Given the description of an element on the screen output the (x, y) to click on. 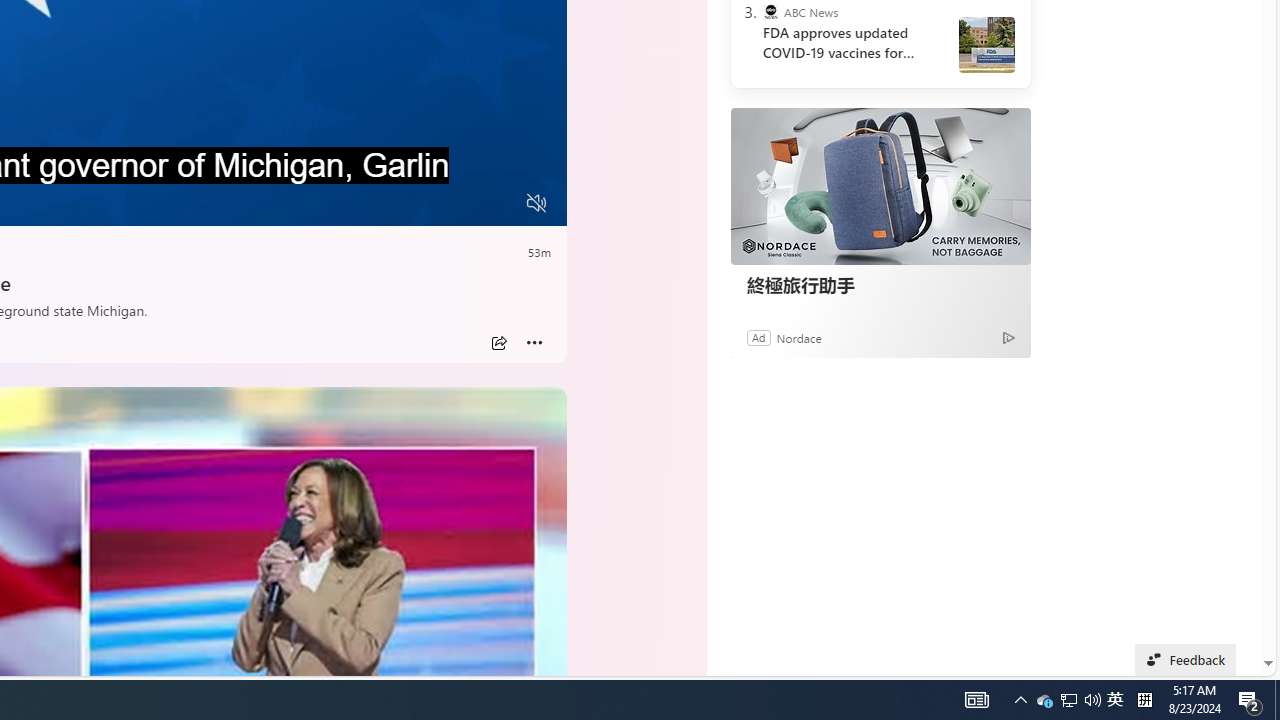
Share (498, 343)
ABC News (770, 12)
Class: at-item inline-watch (534, 343)
Fullscreen (497, 203)
Captions (457, 203)
Quality Settings (418, 203)
More (534, 343)
